Given the description of an element on the screen output the (x, y) to click on. 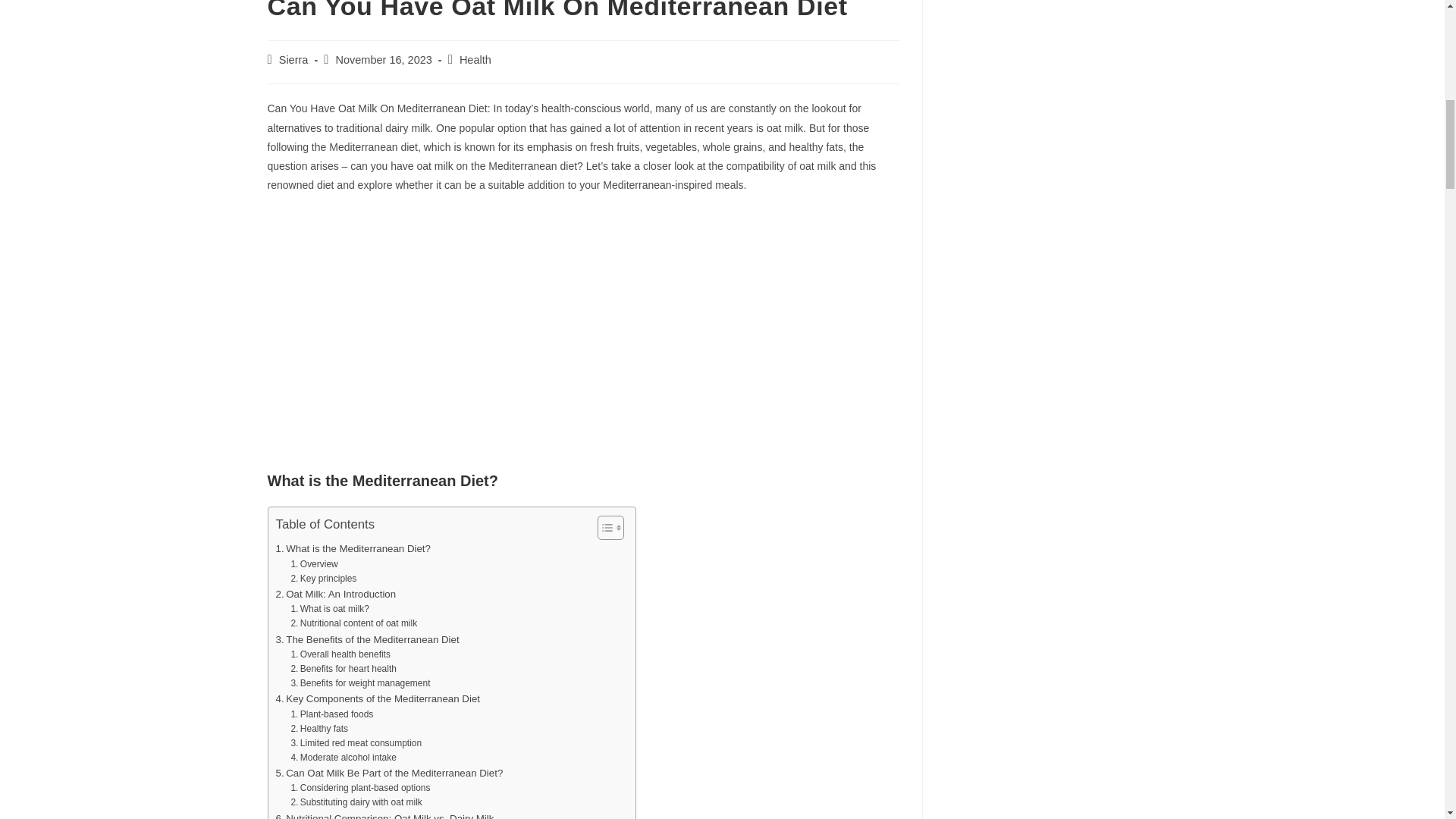
Overall health benefits (339, 654)
Key Components of the Mediterranean Diet (378, 698)
Nutritional content of oat milk (352, 623)
Moderate alcohol intake (342, 757)
What is the Mediterranean Diet? (353, 548)
Key principles (322, 578)
Nutritional Comparison: Oat Milk vs. Dairy Milk (385, 814)
Considering plant-based options (359, 788)
Health (476, 60)
Benefits for weight management (359, 683)
